Given the description of an element on the screen output the (x, y) to click on. 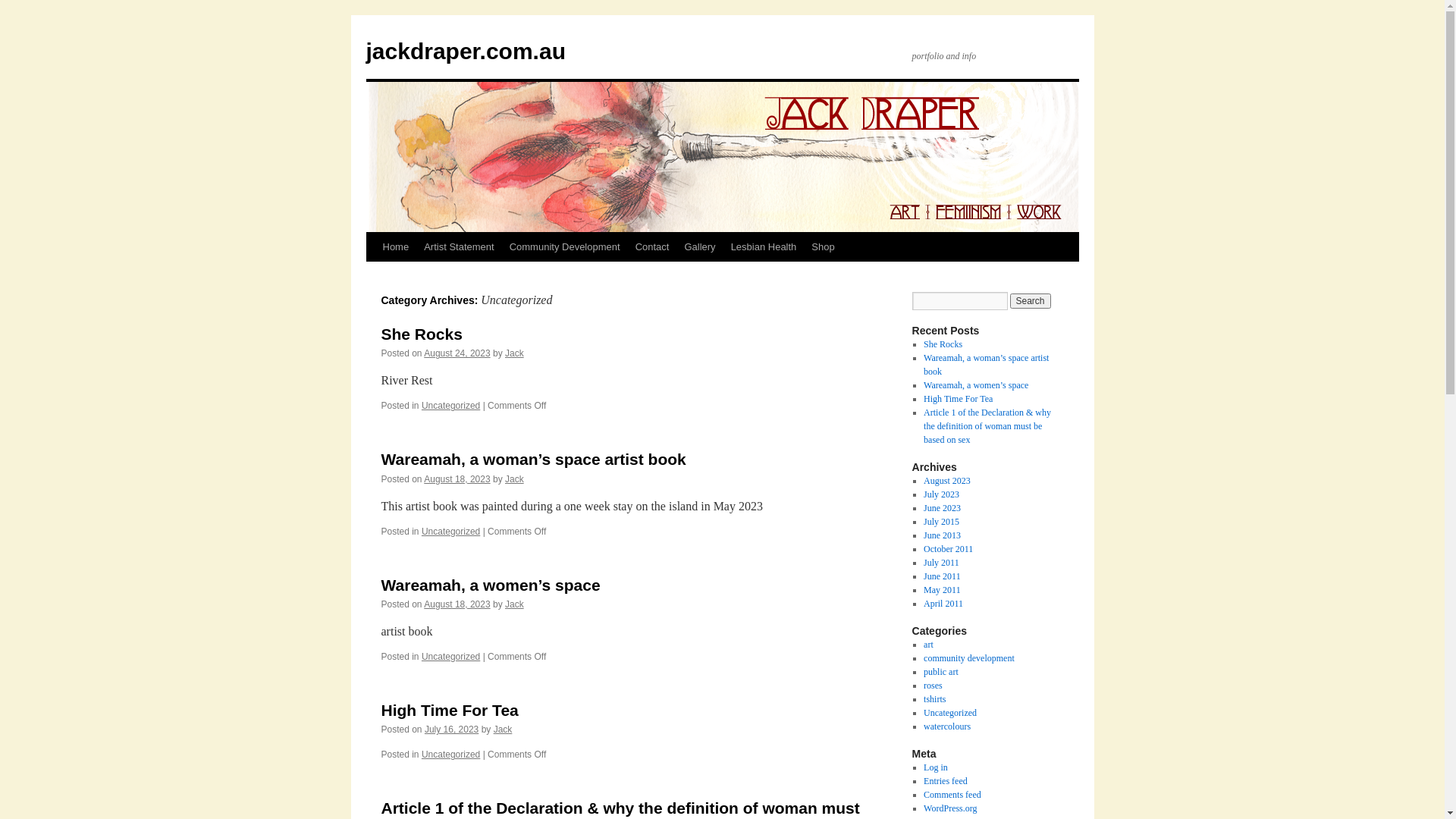
July 2023 Element type: text (941, 494)
Uncategorized Element type: text (450, 656)
tshirts Element type: text (934, 698)
jackdraper.com.au Element type: text (464, 50)
Entries feed Element type: text (945, 780)
Lesbian Health Element type: text (763, 246)
Artist Statement Element type: text (458, 246)
June 2013 Element type: text (941, 535)
She Rocks Element type: text (942, 343)
August 18, 2023 Element type: text (456, 478)
June 2011 Element type: text (941, 576)
August 2023 Element type: text (946, 480)
Comments feed Element type: text (952, 794)
Contact Element type: text (652, 246)
August 18, 2023 Element type: text (456, 604)
Uncategorized Element type: text (450, 405)
WordPress.org Element type: text (949, 808)
October 2011 Element type: text (947, 548)
May 2011 Element type: text (941, 589)
April 2011 Element type: text (943, 603)
June 2023 Element type: text (941, 507)
Jack Element type: text (514, 478)
Home Element type: text (395, 246)
Log in Element type: text (935, 767)
art Element type: text (928, 644)
She Rocks Element type: text (420, 333)
High Time For Tea Element type: text (957, 398)
Uncategorized Element type: text (450, 531)
Jack Element type: text (514, 353)
July 16, 2023 Element type: text (451, 729)
Gallery Element type: text (699, 246)
public art Element type: text (940, 671)
Skip to content Element type: text (372, 275)
July 2015 Element type: text (941, 521)
Community Development Element type: text (564, 246)
Shop Element type: text (822, 246)
Uncategorized Element type: text (450, 754)
High Time For Tea Element type: text (448, 709)
August 24, 2023 Element type: text (456, 353)
Jack Element type: text (514, 604)
community development Element type: text (968, 657)
July 2011 Element type: text (941, 562)
Search Element type: text (1030, 300)
Uncategorized Element type: text (949, 712)
roses Element type: text (932, 685)
watercolours Element type: text (946, 726)
Jack Element type: text (502, 729)
